Given the description of an element on the screen output the (x, y) to click on. 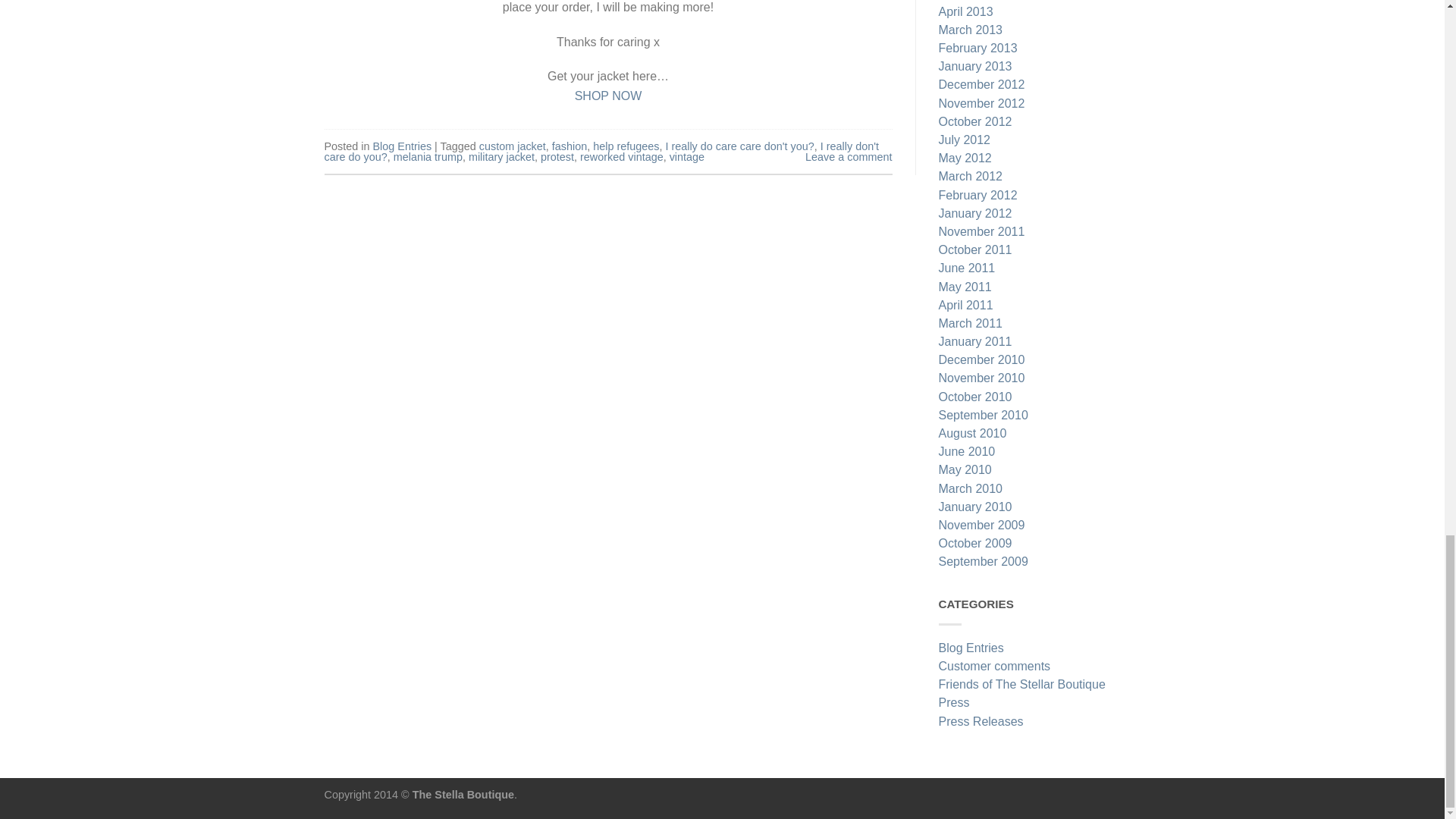
I really don't care do you? (601, 151)
vintage (686, 156)
Blog Entries (402, 146)
protest (556, 156)
custom jacket (512, 146)
help refugees (625, 146)
fashion (568, 146)
military jacket (501, 156)
I really do care care don't you? (739, 146)
Leave a comment (848, 156)
melania trump (428, 156)
reworked vintage (621, 156)
SHOP NOW (608, 95)
